Given the description of an element on the screen output the (x, y) to click on. 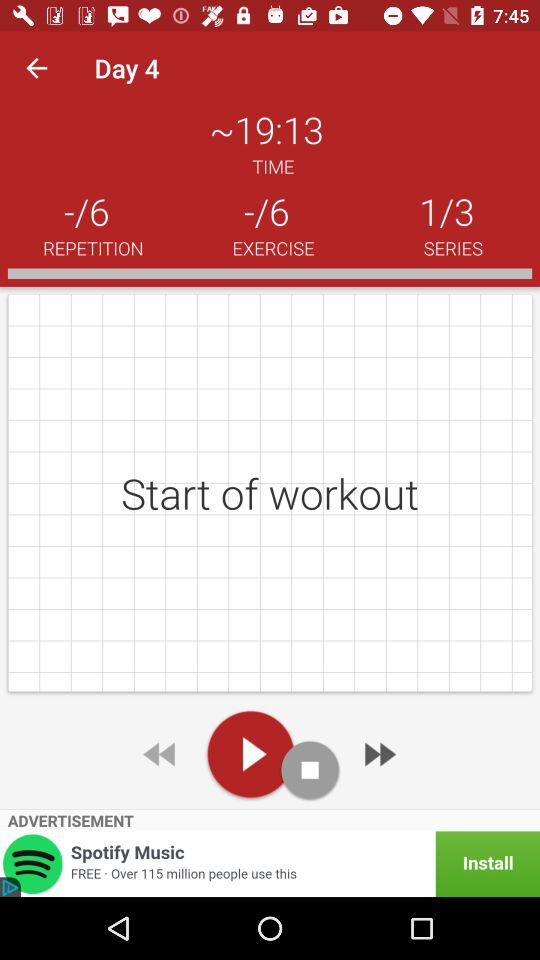
click red button to play audio (250, 754)
